Given the description of an element on the screen output the (x, y) to click on. 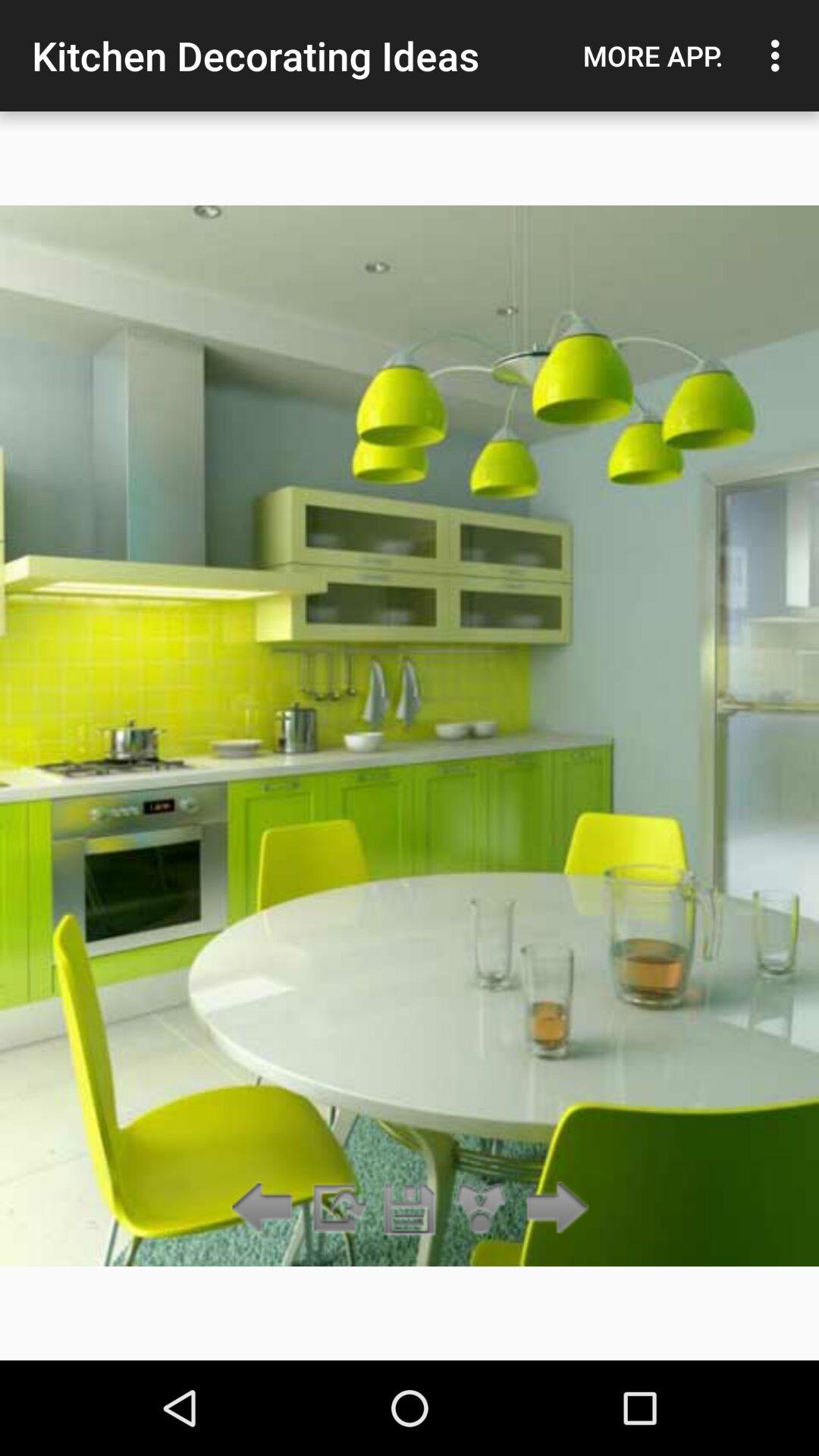
tap icon below the kitchen decorating ideas icon (480, 1208)
